Given the description of an element on the screen output the (x, y) to click on. 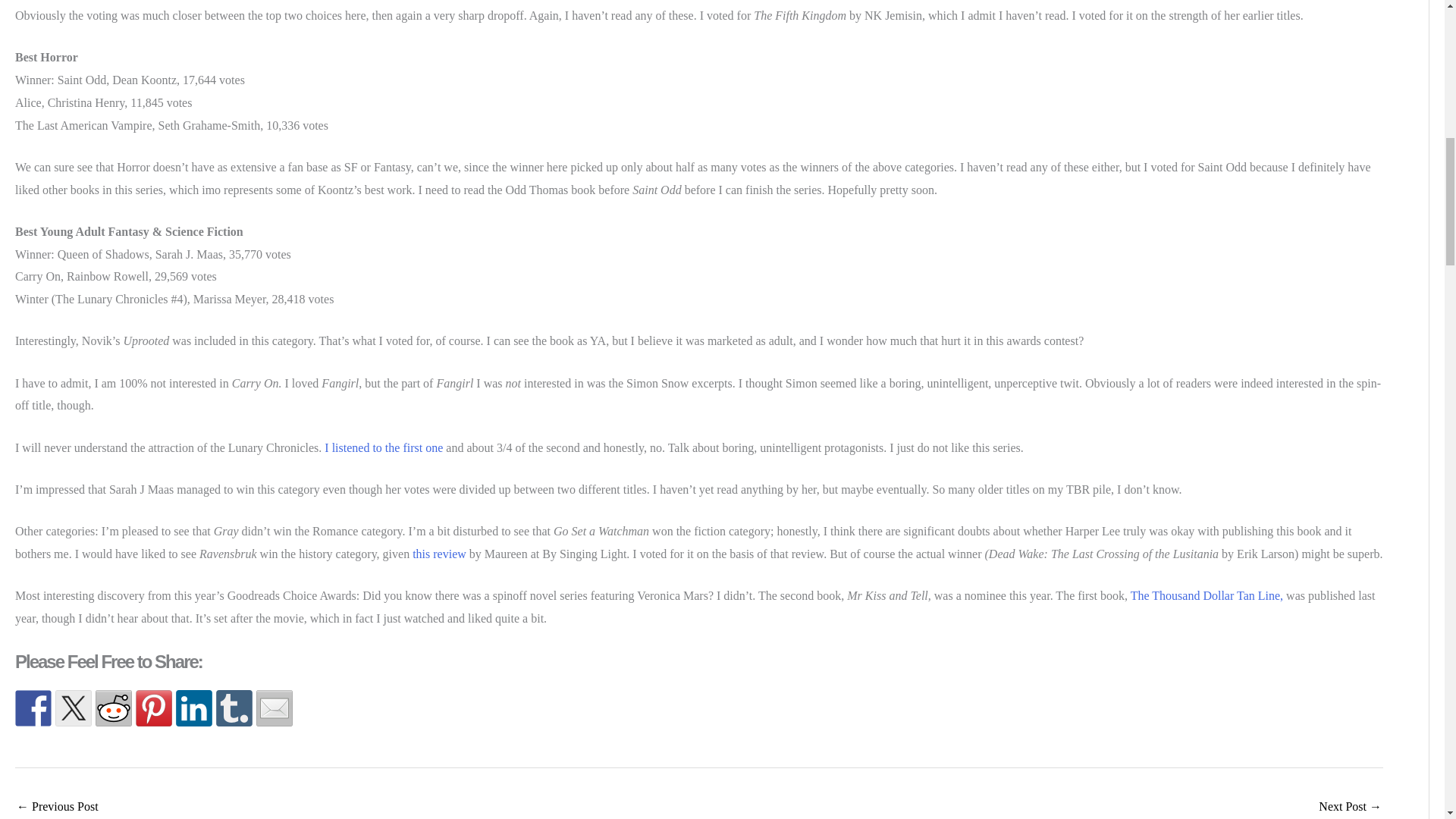
Share on tumblr (233, 708)
The Thousand Dollar Tan Line, (1208, 594)
I listened to the first one (384, 447)
Share on Facebook (32, 708)
Share on Twitter (73, 708)
Pin it with Pinterest (153, 708)
this review (438, 553)
Share on Linkedin (194, 708)
Share on Reddit (114, 708)
